Given the description of an element on the screen output the (x, y) to click on. 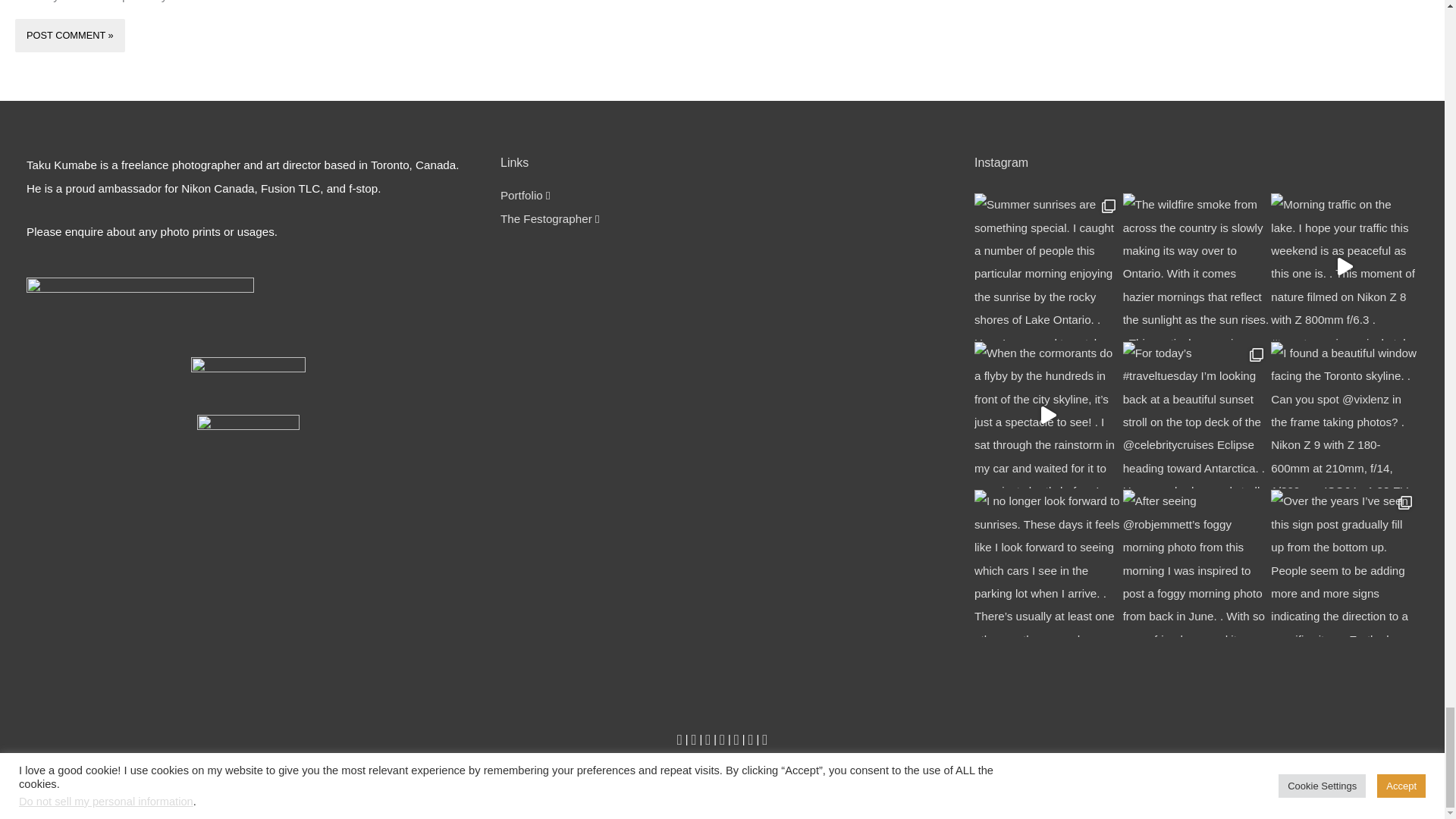
The Festographer (546, 218)
Portfolio (521, 195)
